Given the description of an element on the screen output the (x, y) to click on. 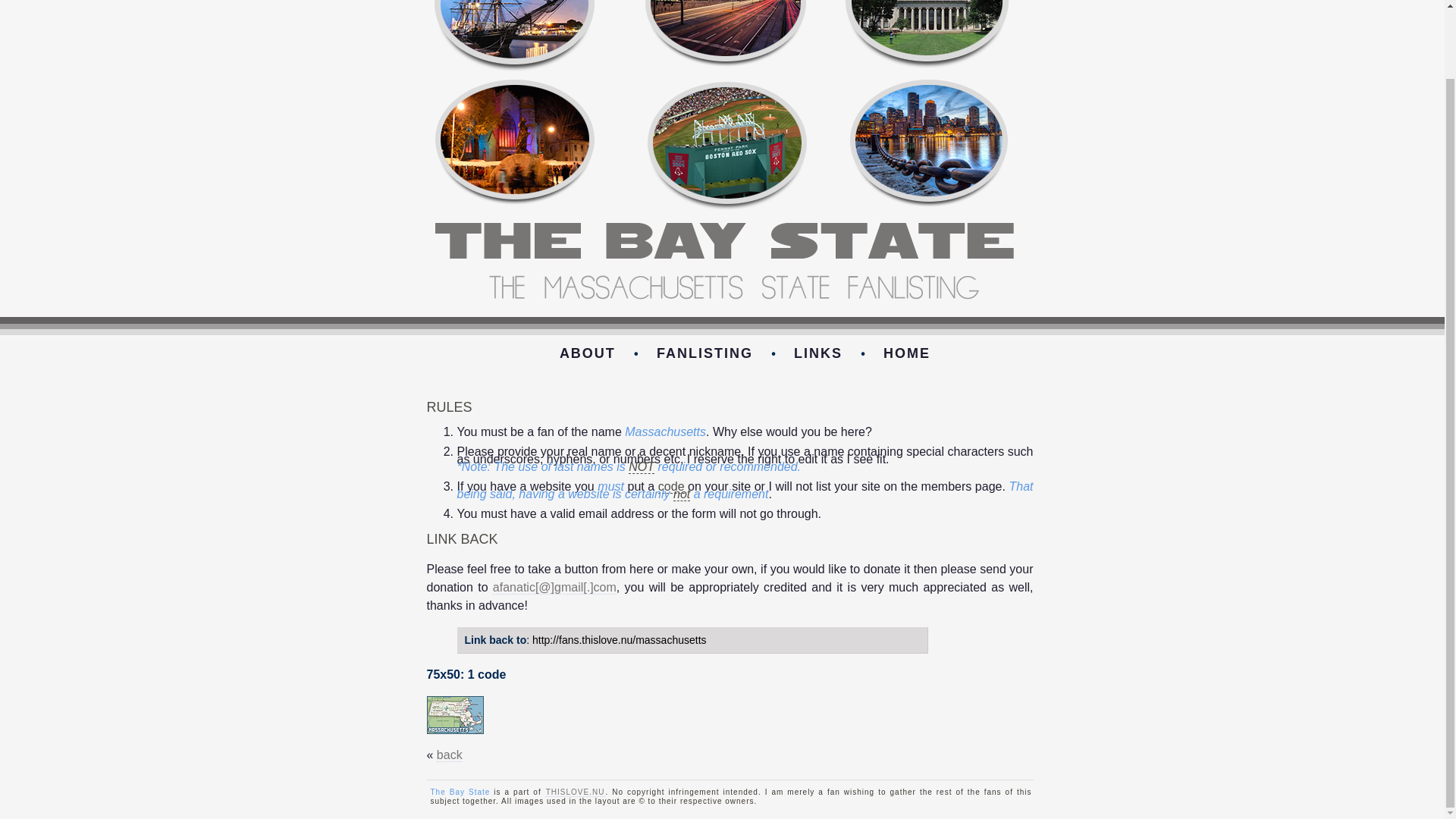
ABOUT (587, 353)
back (449, 755)
HOME (906, 353)
THISLOVE.NU (574, 791)
LINKS (818, 353)
FANLISTING (704, 353)
